Given the description of an element on the screen output the (x, y) to click on. 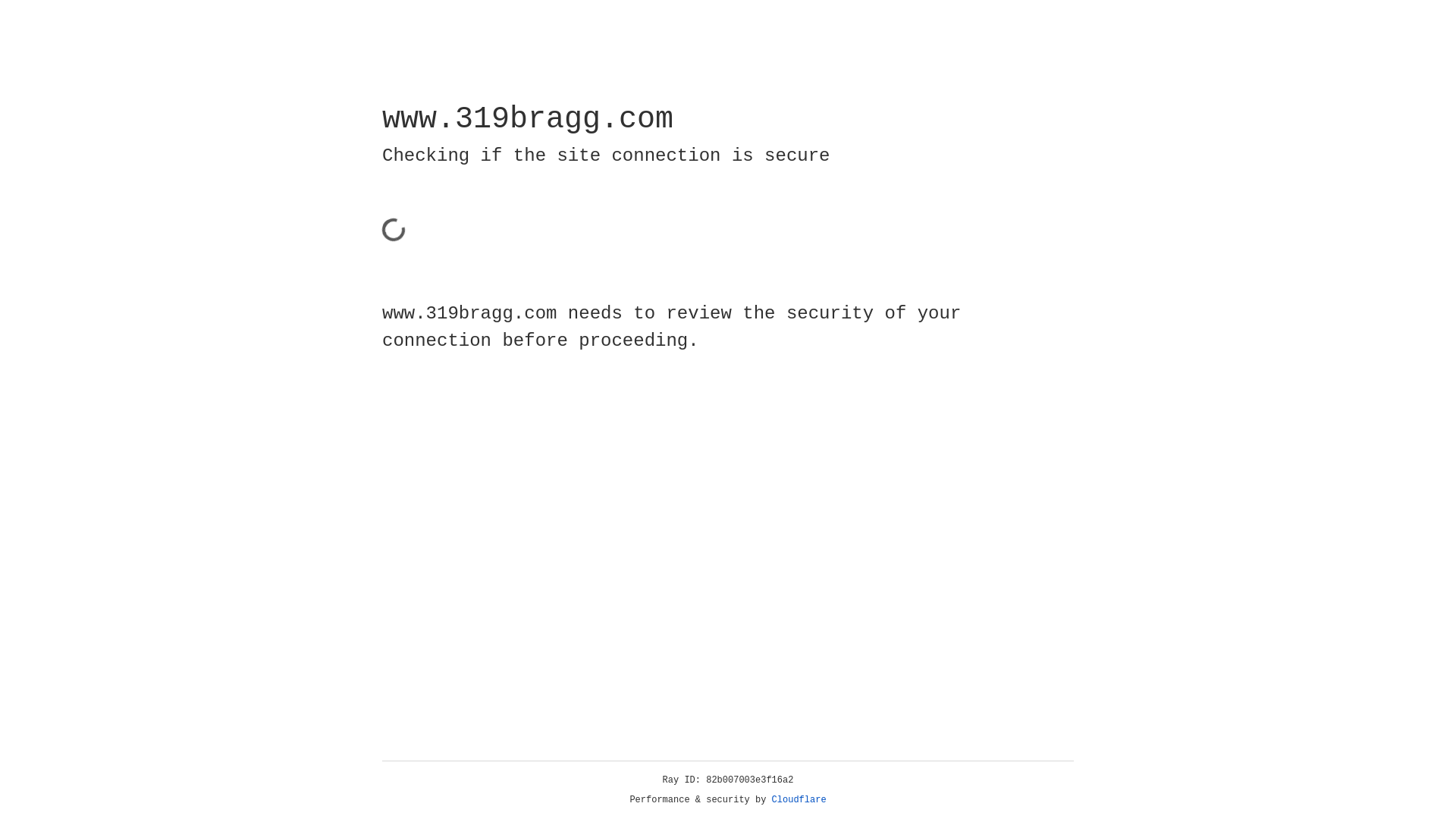
Cloudflare Element type: text (798, 799)
